Given the description of an element on the screen output the (x, y) to click on. 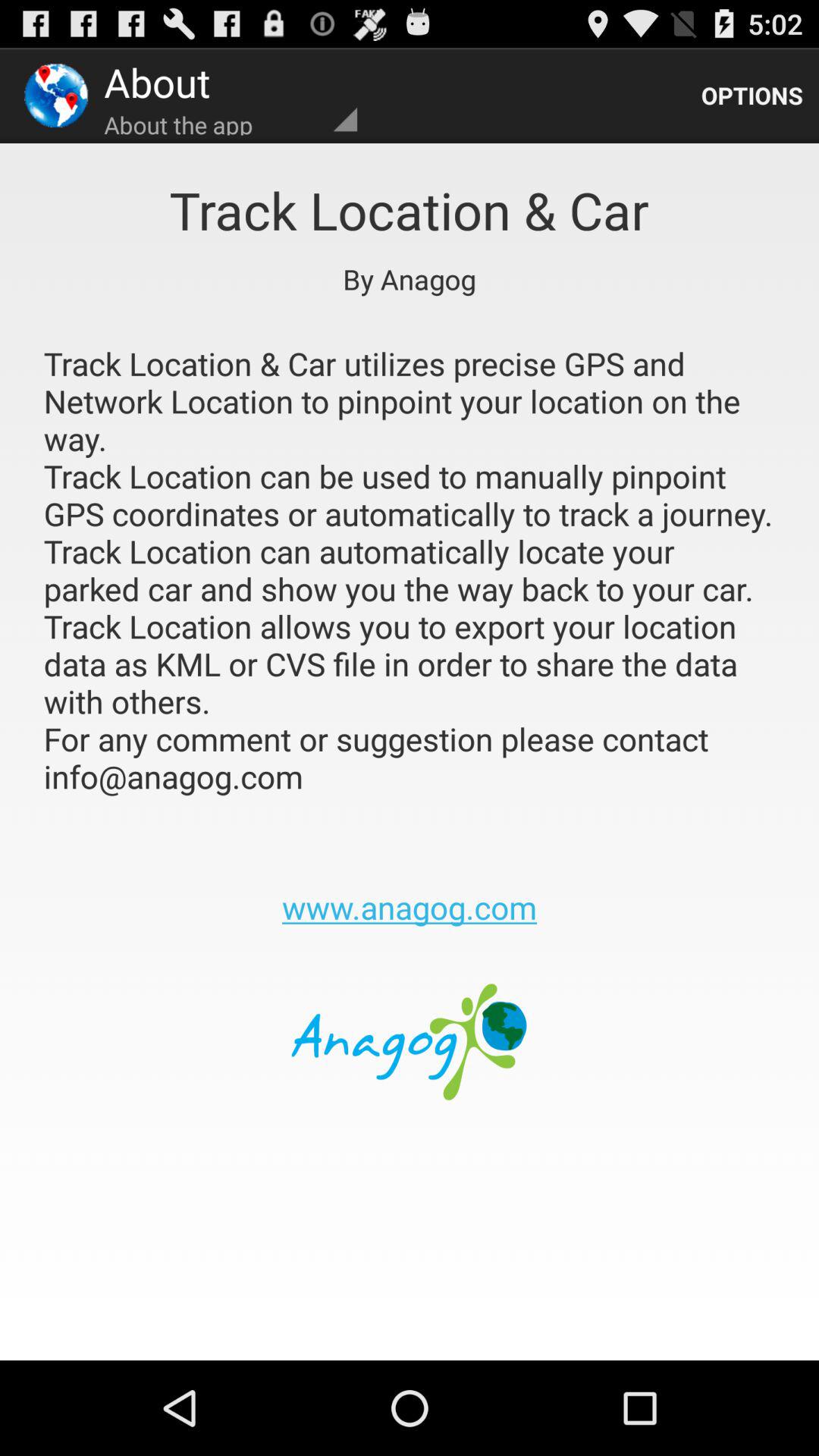
flip to the options icon (752, 95)
